Given the description of an element on the screen output the (x, y) to click on. 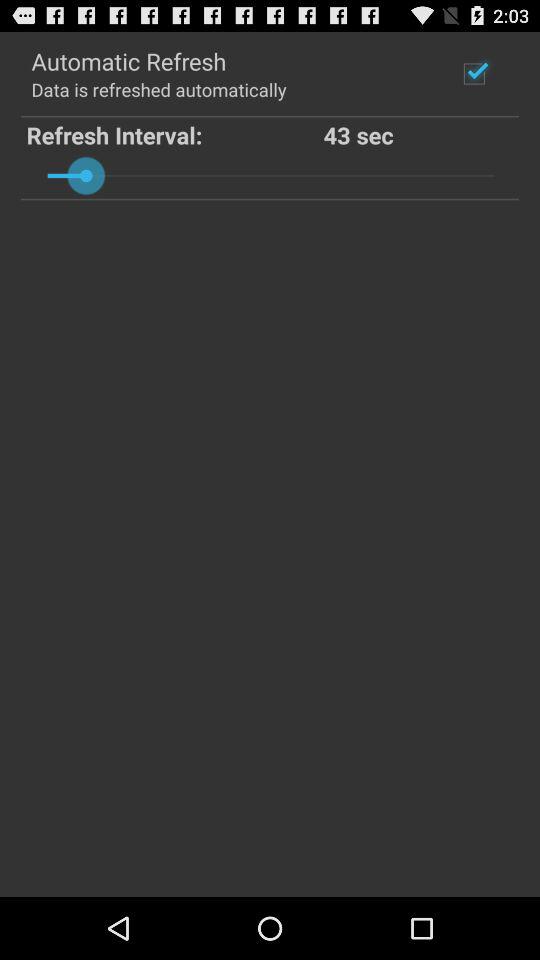
swipe to 43 sec icon (419, 134)
